Given the description of an element on the screen output the (x, y) to click on. 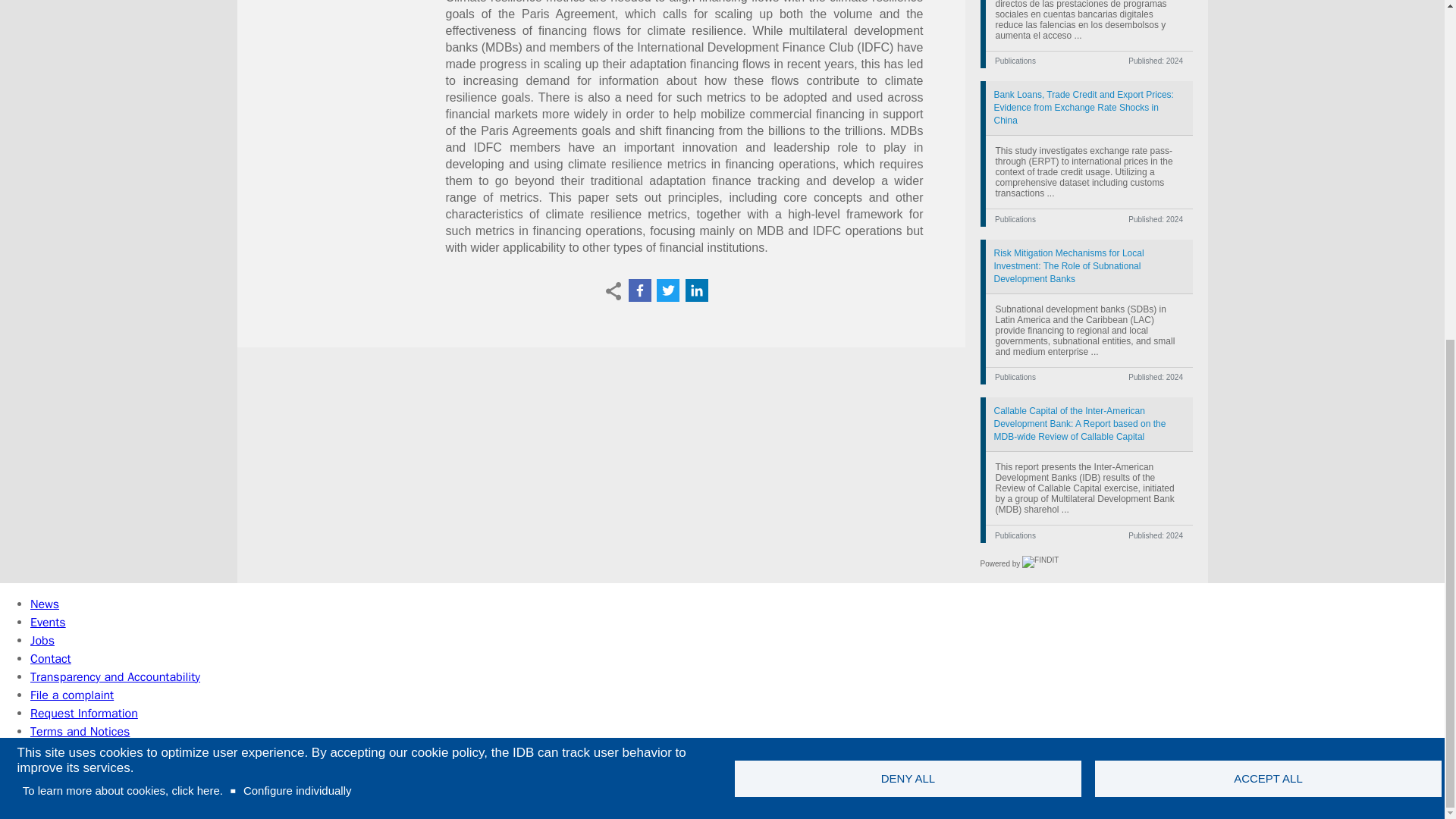
Share on LinkedIn (696, 290)
Share on Facebook (638, 290)
Share on Twitter (667, 290)
